Given the description of an element on the screen output the (x, y) to click on. 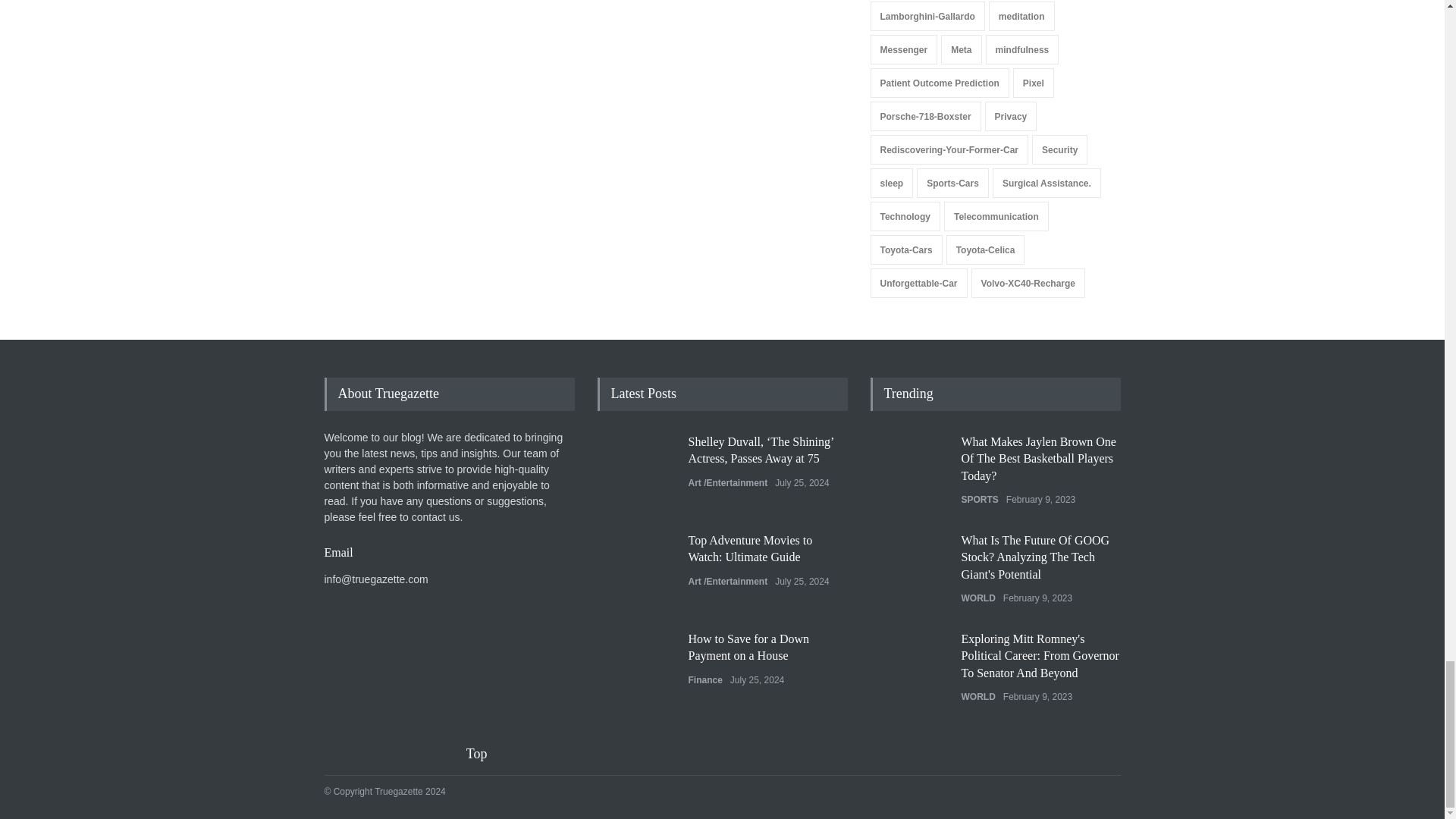
Top (485, 753)
